Given the description of an element on the screen output the (x, y) to click on. 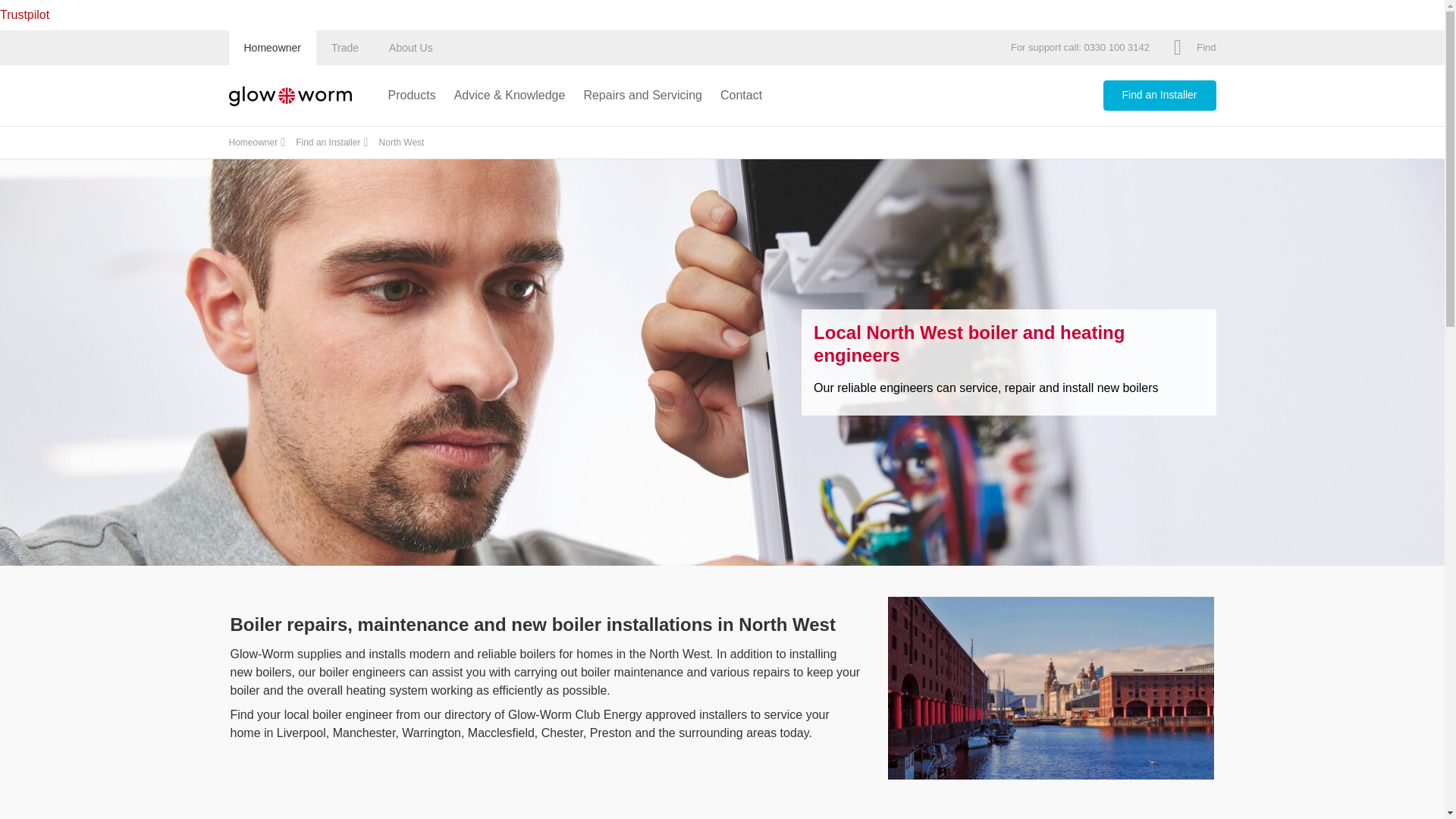
Glow-worm (290, 95)
Homeowner (271, 47)
Homeowner (253, 142)
Find (1194, 48)
Repairs and Servicing (642, 95)
Trade (344, 47)
Find an Installer (327, 142)
About Us (411, 47)
Find an Installer (1159, 95)
Trustpilot (24, 14)
For support call: 0330 100 3142 (1080, 48)
